Given the description of an element on the screen output the (x, y) to click on. 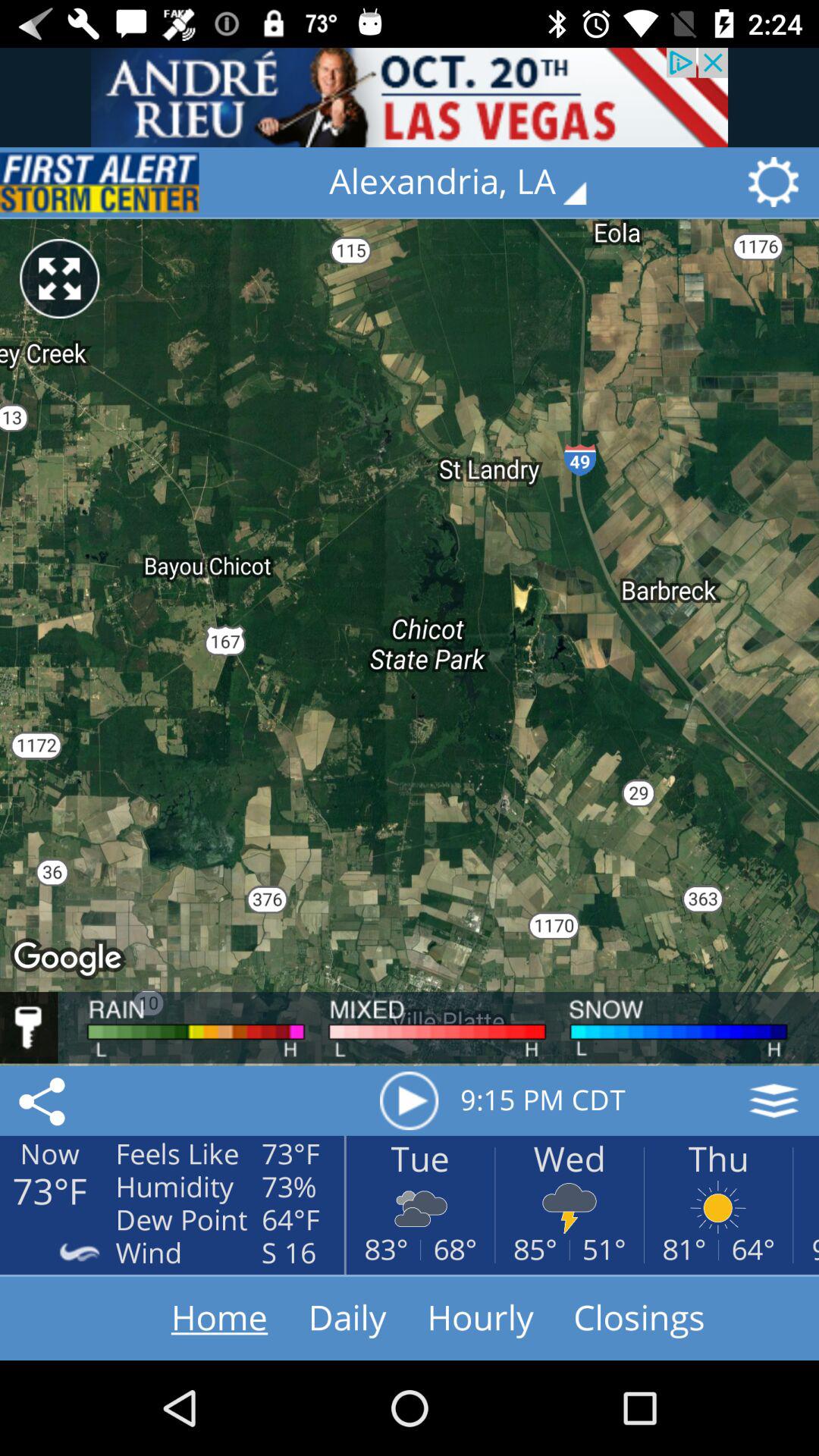
tap on the option with text alexandria la (469, 181)
clouds icon below the text tue at the bottom (420, 1206)
click on play button which is beside share icon (409, 1100)
